Given the description of an element on the screen output the (x, y) to click on. 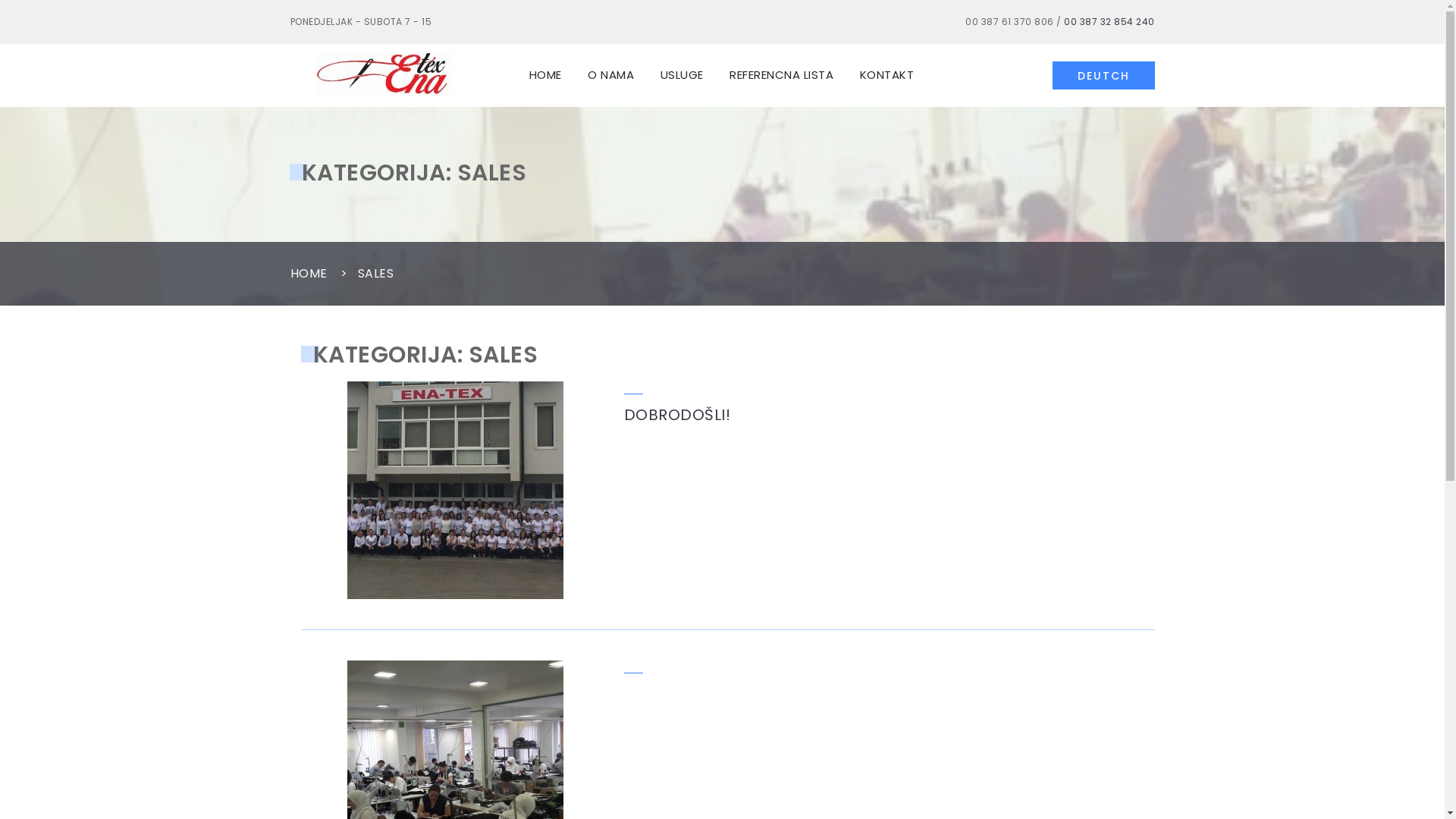
DEUTCH Element type: text (1103, 75)
REFERENCNA LISTA Element type: text (781, 74)
HOME Element type: text (544, 74)
Skip to content Element type: text (0, 0)
00 387 32 854 240 Element type: text (1108, 21)
KONTAKT Element type: text (886, 74)
USLUGE Element type: text (682, 74)
O NAMA Element type: text (610, 74)
HOME Element type: text (307, 272)
